Given the description of an element on the screen output the (x, y) to click on. 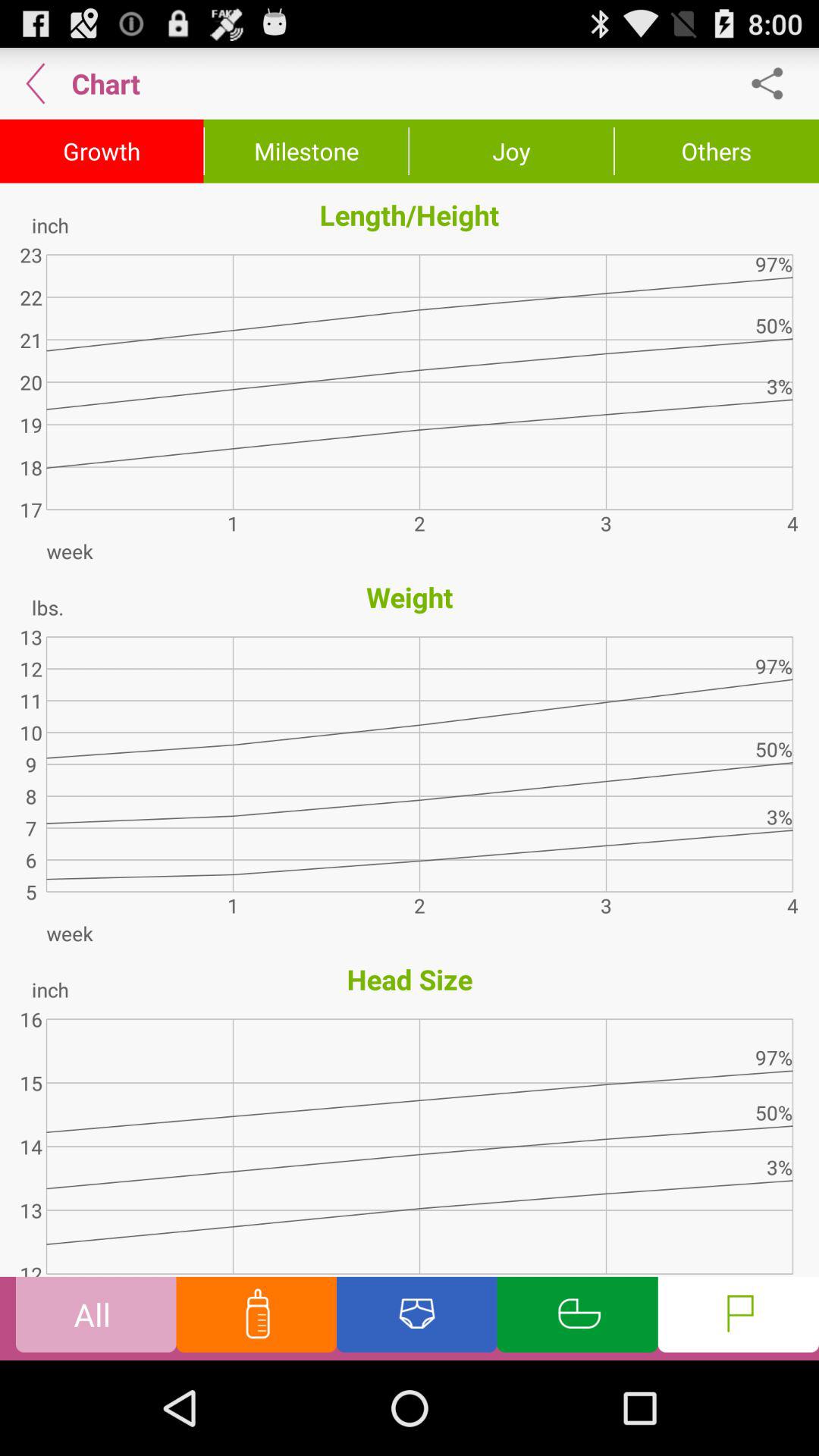
go to share (775, 83)
